Given the description of an element on the screen output the (x, y) to click on. 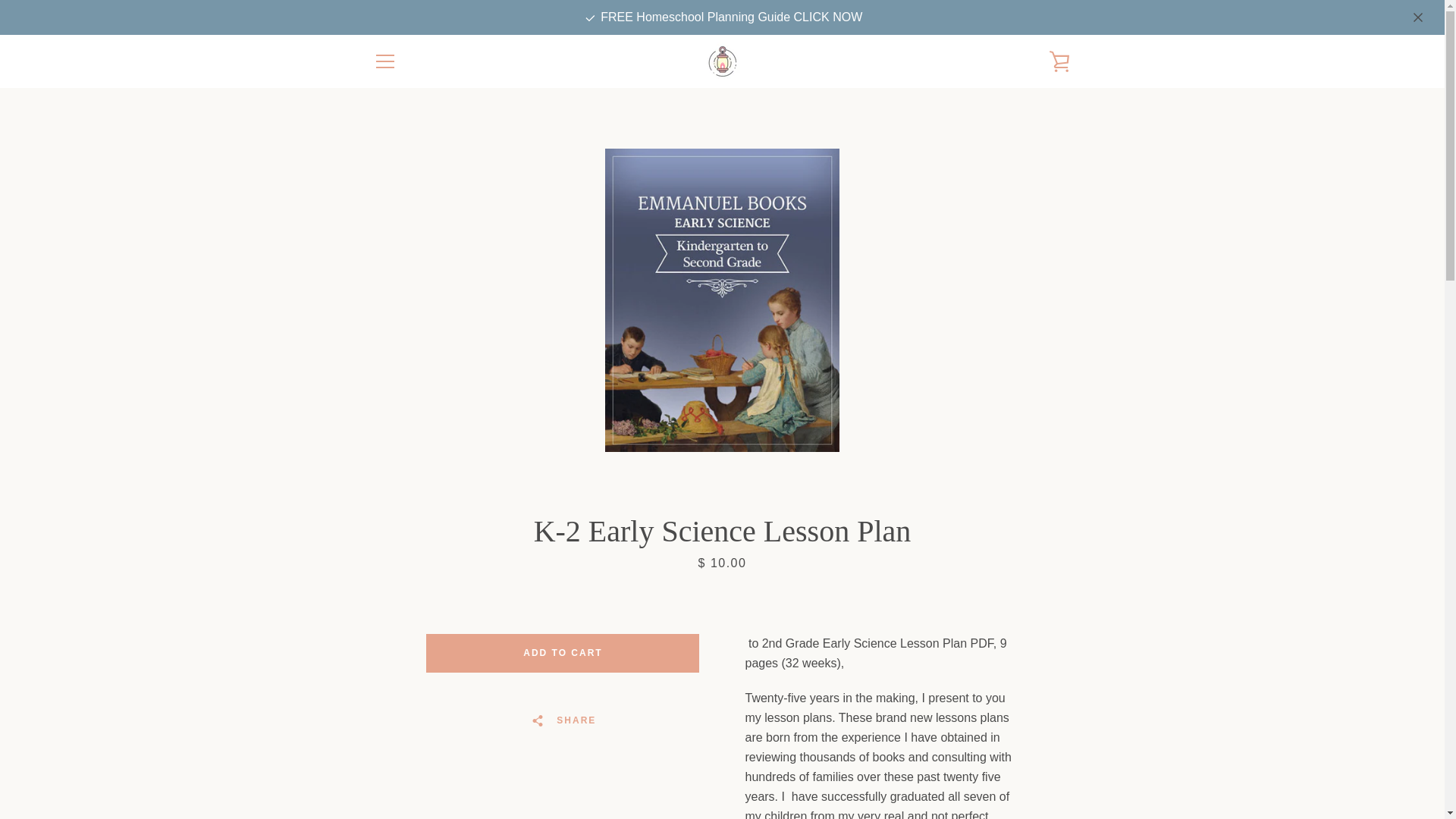
SHARE (563, 720)
ADD TO CART (562, 652)
VIEW CART (1059, 61)
EXPAND NAVIGATION (384, 61)
